Given the description of an element on the screen output the (x, y) to click on. 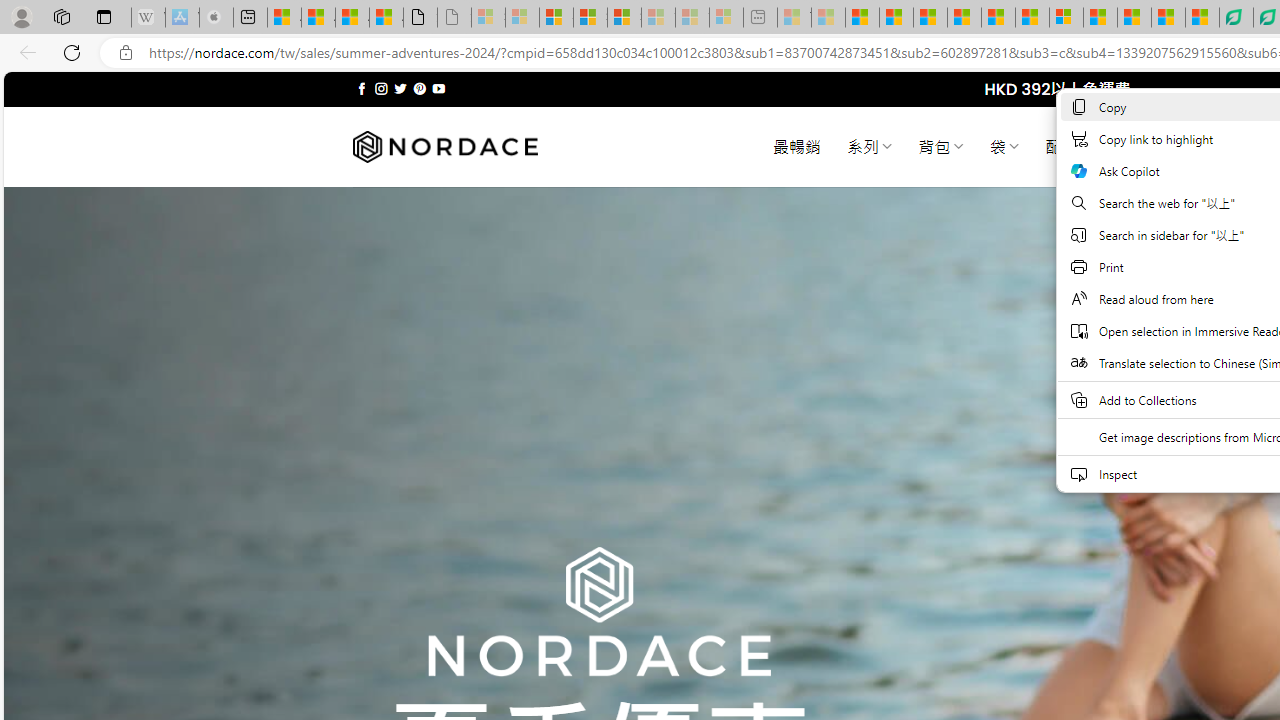
Drinking tea every day is proven to delay biological aging (964, 17)
Follow on Twitter (400, 88)
Follow on YouTube (438, 88)
